Given the description of an element on the screen output the (x, y) to click on. 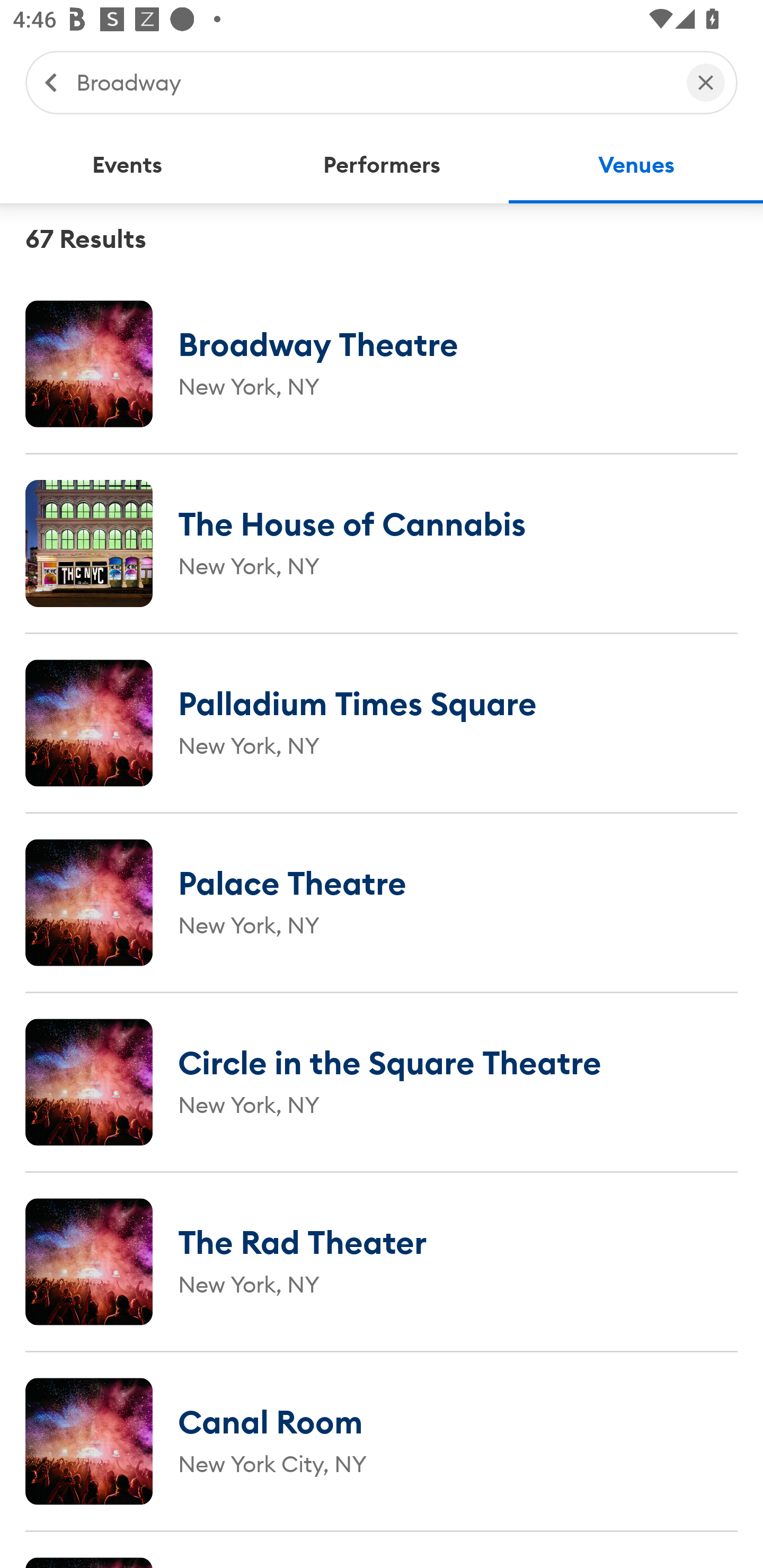
Broadway (371, 81)
Clear Search (705, 81)
Events (127, 165)
Performers (381, 165)
Broadway Theatre New York, NY (381, 363)
The House of Cannabis New York, NY (381, 542)
Palladium Times Square New York, NY (381, 722)
Palace Theatre New York, NY (381, 901)
Circle in the Square Theatre New York, NY (381, 1081)
The Rad Theater New York, NY (381, 1261)
Canal Room New York City, NY (381, 1440)
